Given the description of an element on the screen output the (x, y) to click on. 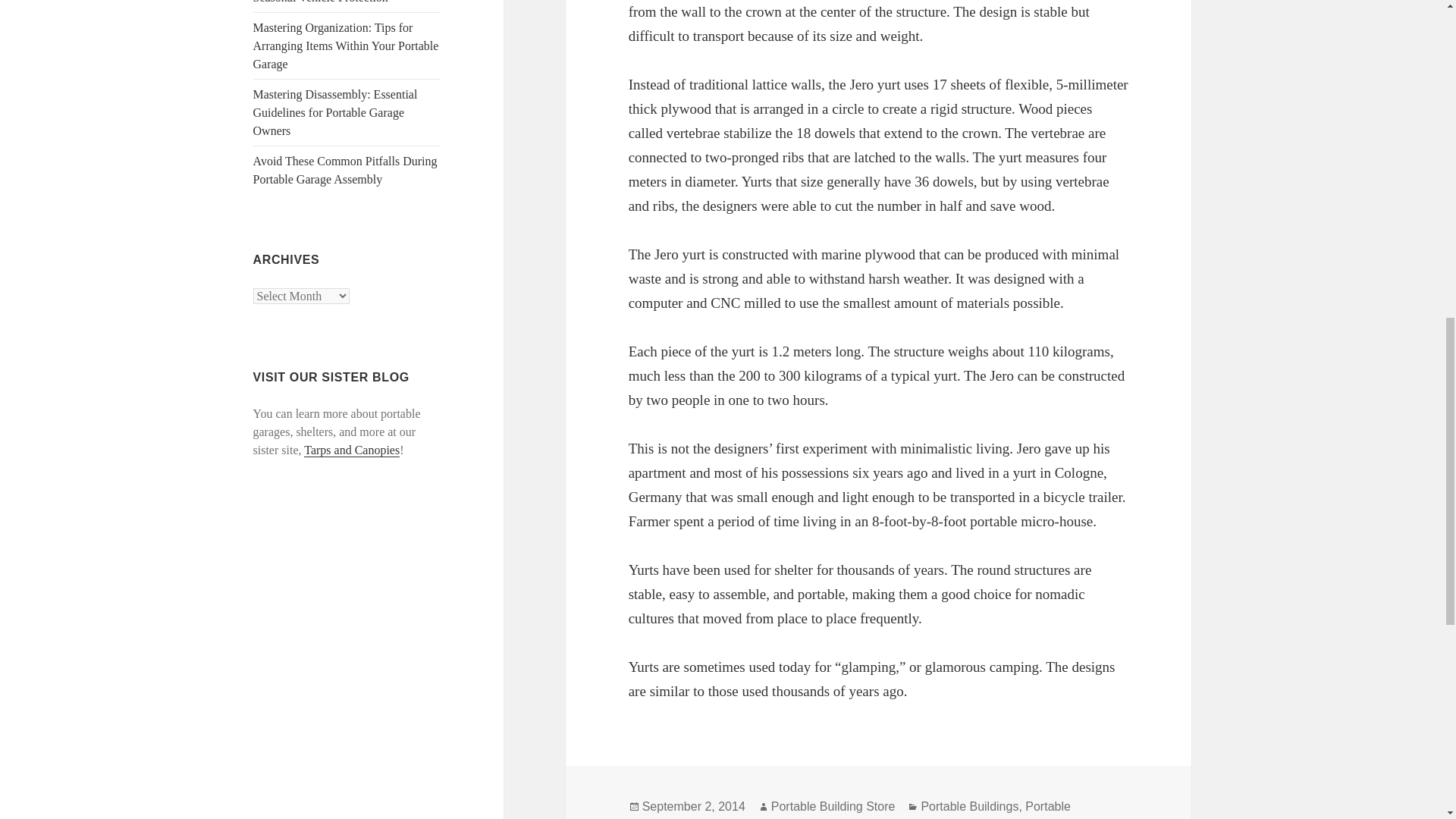
Avoid These Common Pitfalls During Portable Garage Assembly (345, 169)
Portable Buildings (968, 807)
Portable Shelters (849, 809)
Portable Building Store (833, 807)
September 2, 2014 (693, 807)
Tarps and Canopies (351, 450)
Seasonal Vehicle Protection (320, 2)
Tarps and Canopies (351, 450)
